Given the description of an element on the screen output the (x, y) to click on. 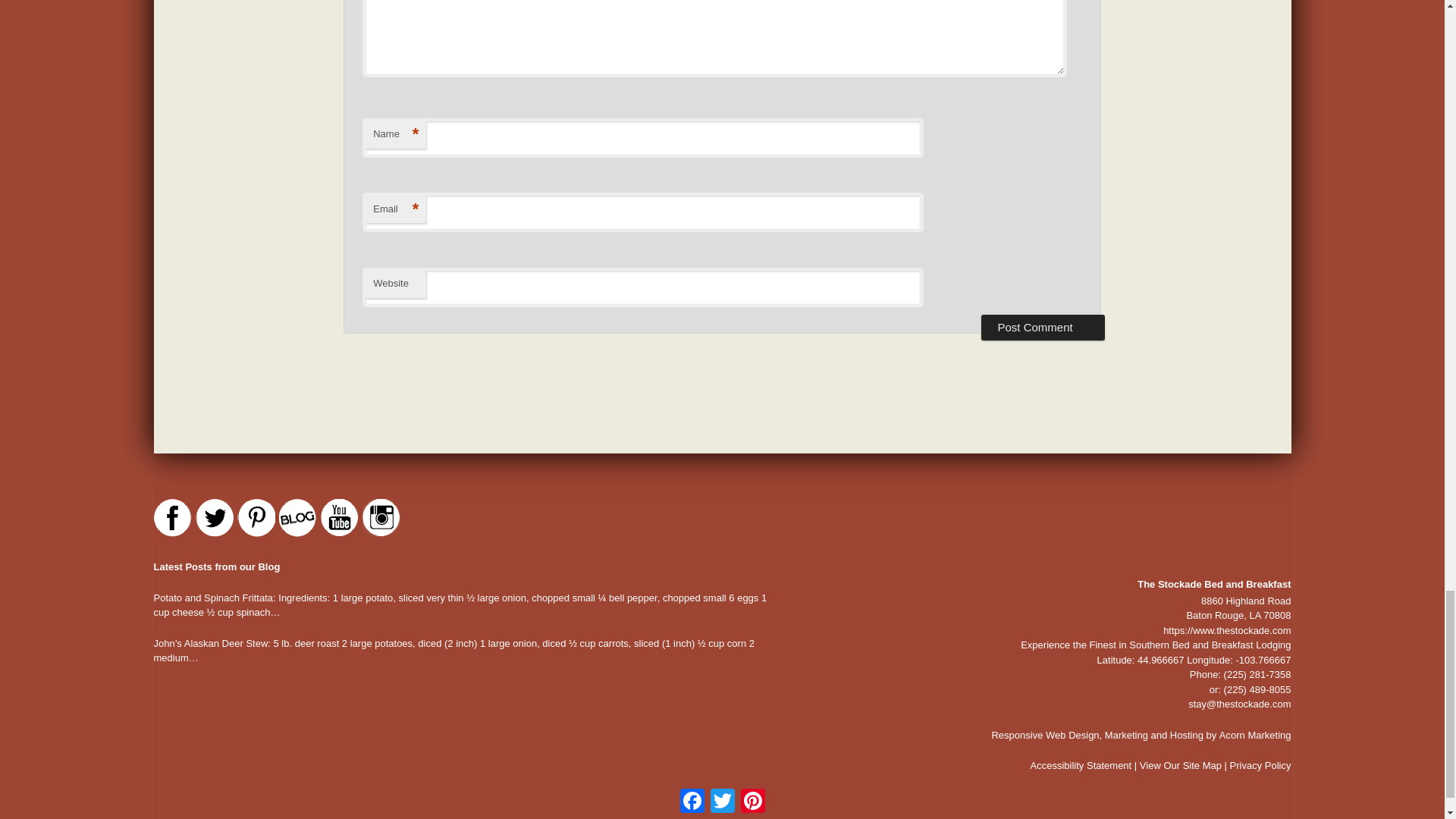
View our YouTube Channel (339, 517)
Read our Blog (298, 517)
Follow us on Twitter (213, 517)
Pin us on Pinterest (255, 517)
Post Comment (1043, 327)
The Stockade Bed and Breakfast (1184, 535)
Like us on Facebook (171, 517)
View our photos! (381, 517)
